Given the description of an element on the screen output the (x, y) to click on. 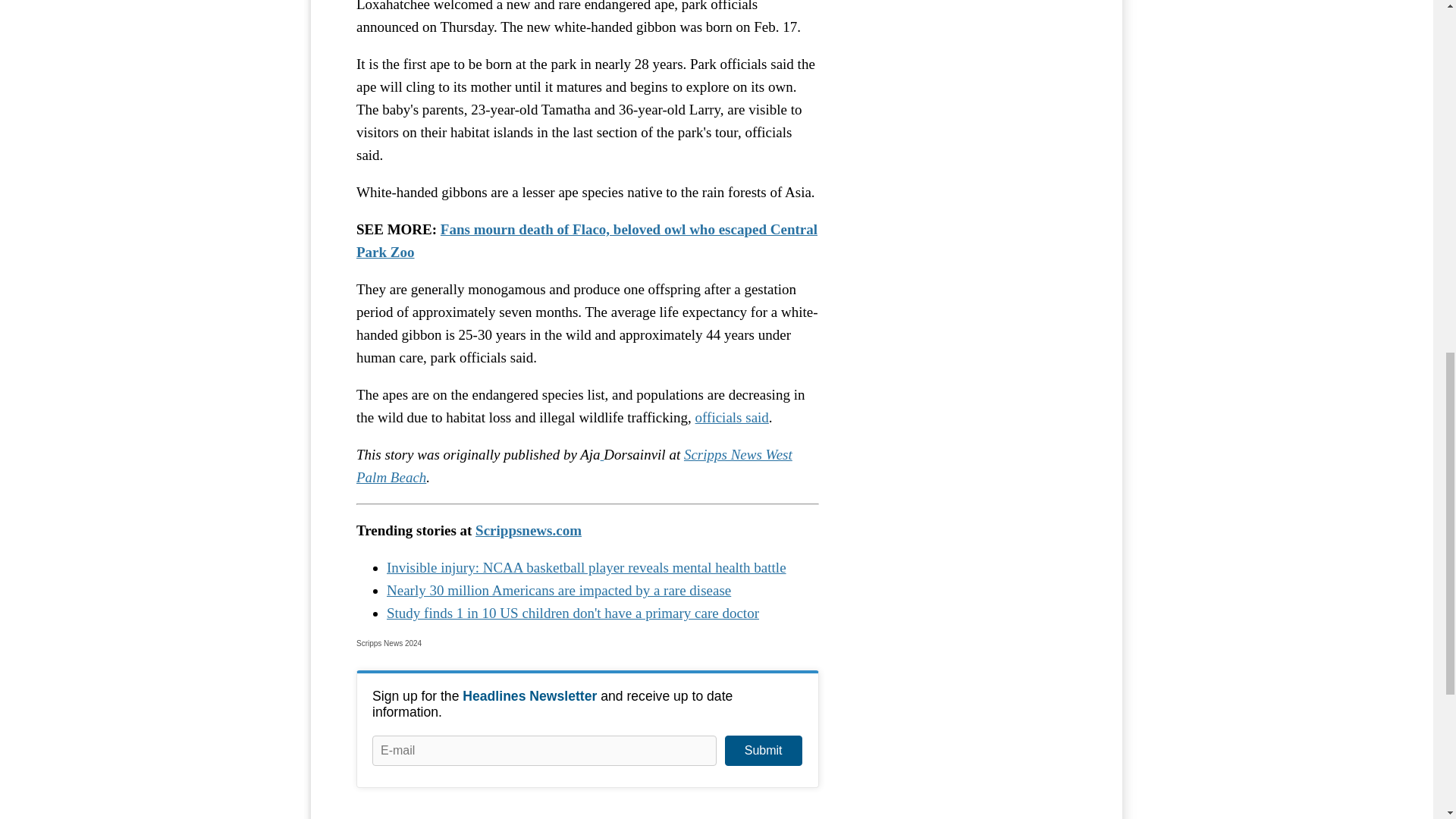
Submit (763, 750)
